Given the description of an element on the screen output the (x, y) to click on. 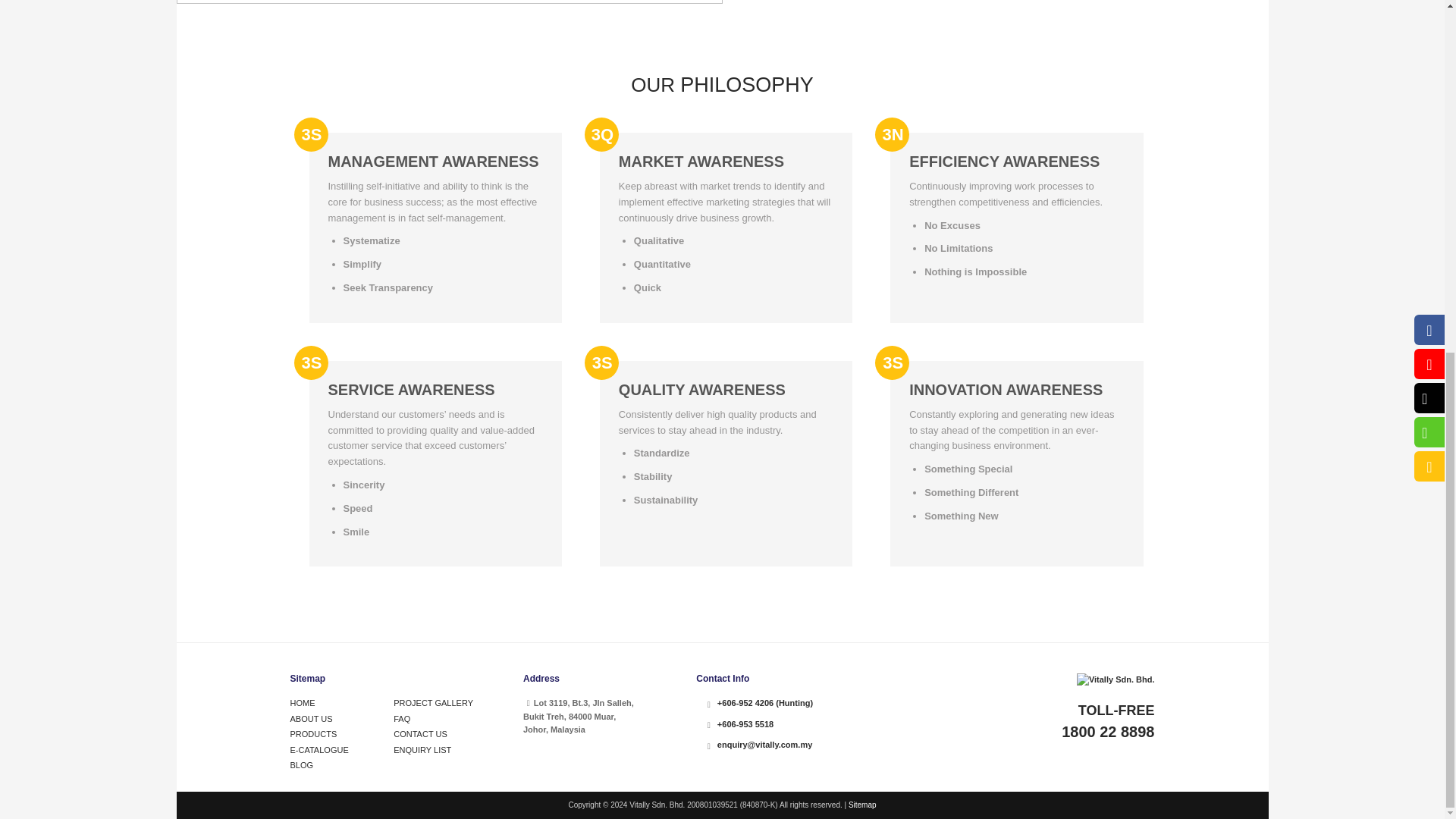
FAQ (401, 718)
Sitemap (862, 804)
ABOUT US (310, 718)
HOME (301, 702)
E-CATALOGUE (318, 749)
BLOG (301, 764)
PRODUCTS (312, 733)
PROJECT GALLERY (433, 702)
